Given the description of an element on the screen output the (x, y) to click on. 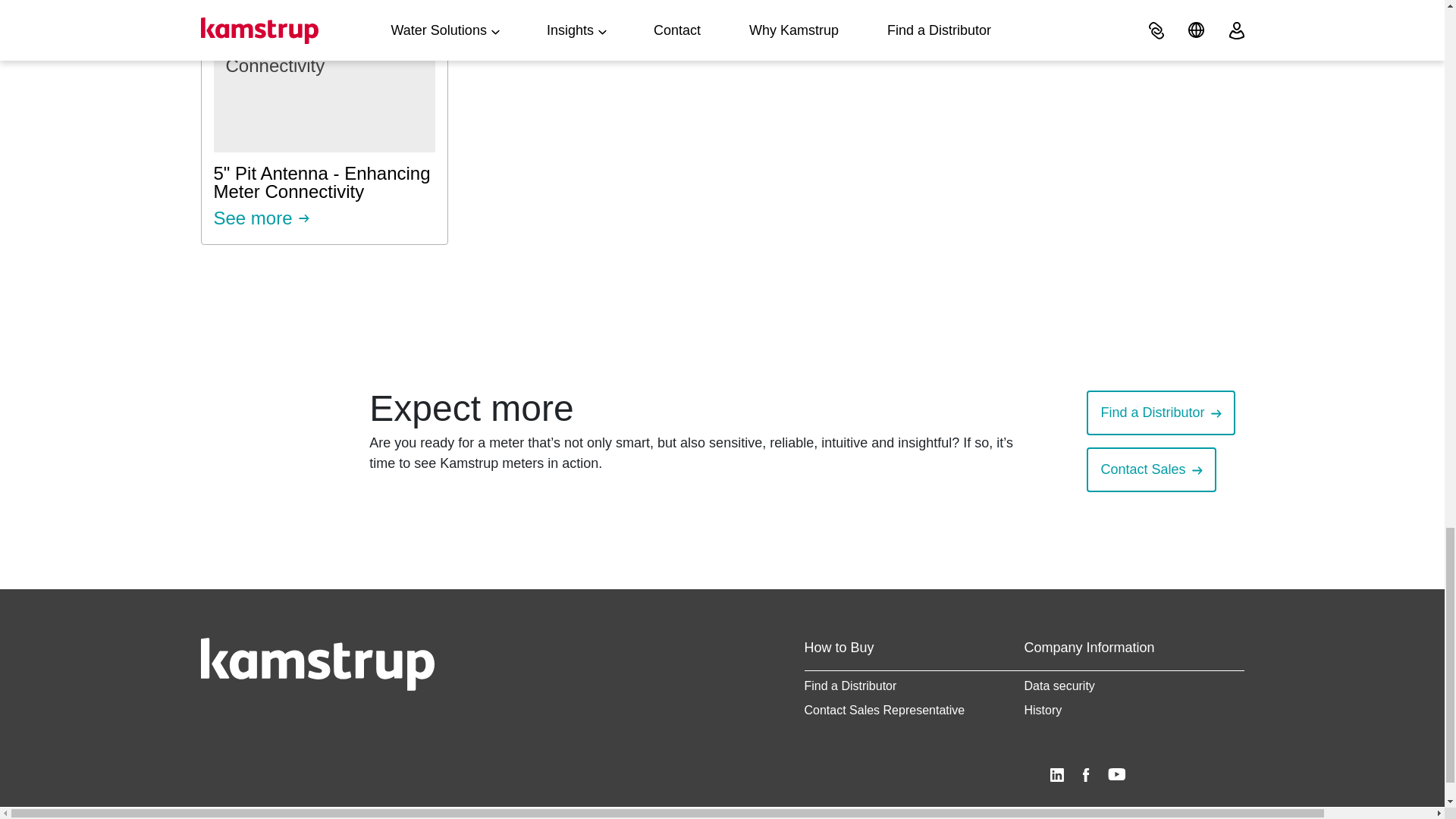
Contact Sales (323, 122)
YouTube (1142, 469)
Facebook (1116, 775)
LinkedIn (1085, 775)
Find a Distributor (1056, 775)
